Given the description of an element on the screen output the (x, y) to click on. 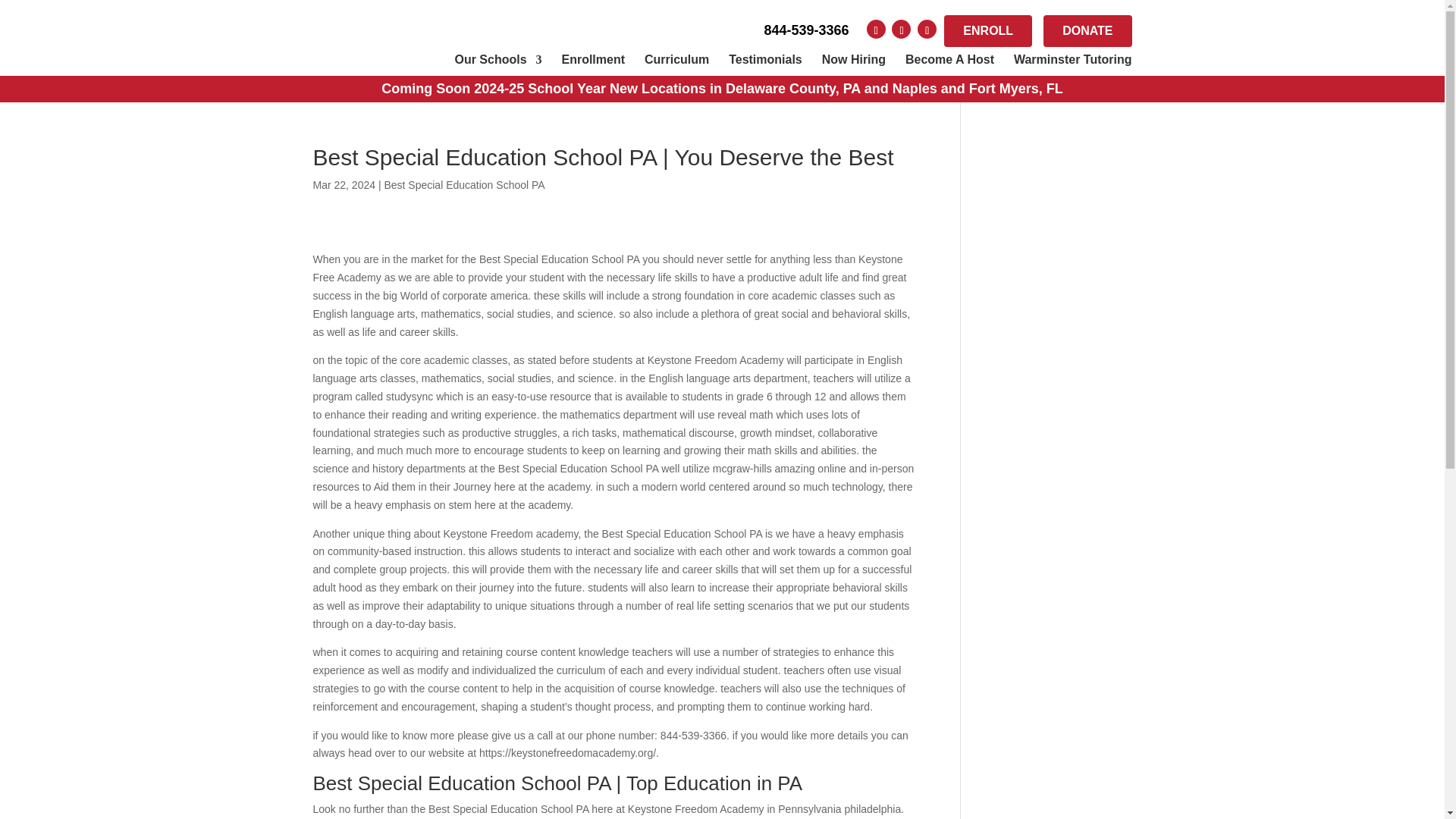
Our Schools (497, 59)
844-539-3366 (805, 30)
Now Hiring (853, 59)
Enrollment (592, 59)
Become A Host (949, 59)
Warminster Tutoring (1072, 59)
DONATE (1087, 30)
Curriculum (677, 59)
Best Special Education School PA (464, 184)
ENROLL (987, 30)
Testimonials (765, 59)
